Given the description of an element on the screen output the (x, y) to click on. 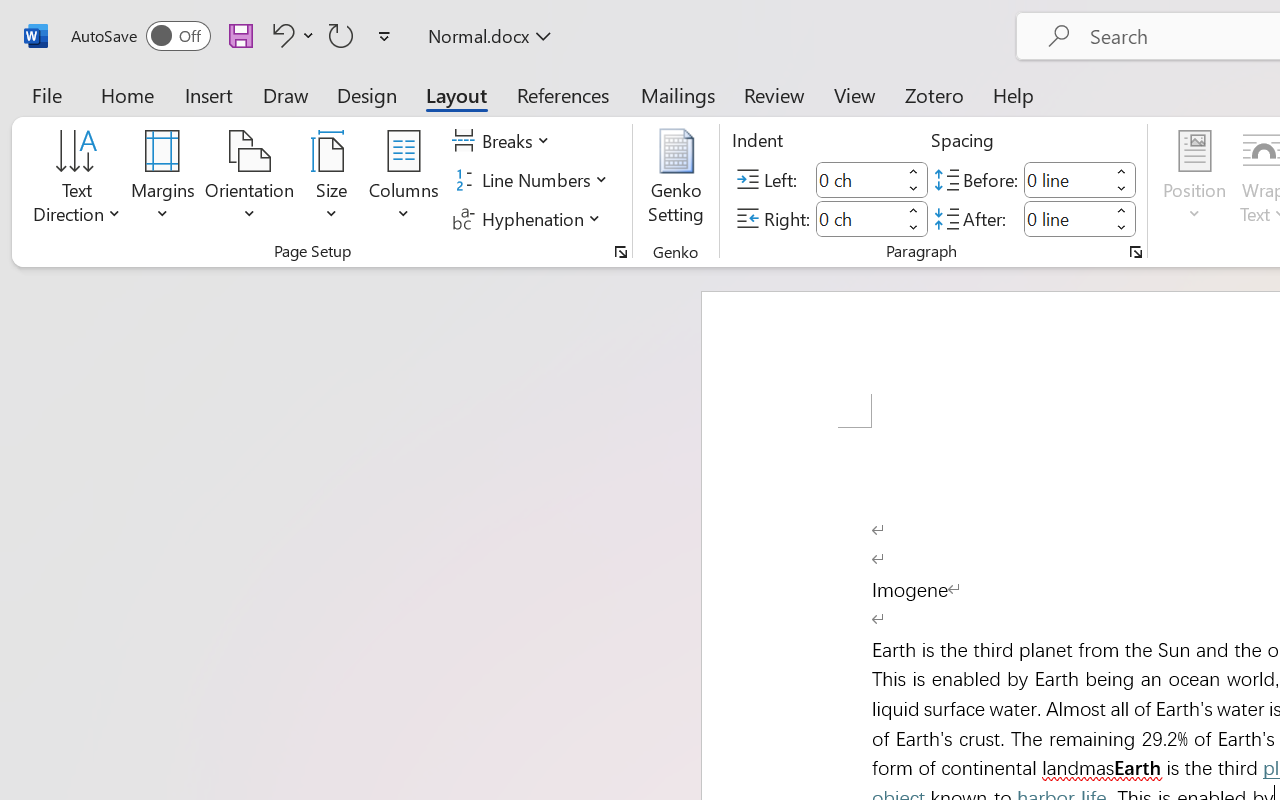
Hyphenation (529, 218)
Indent Right (858, 218)
Breaks (504, 141)
Spacing After (1066, 218)
Genko Setting... (676, 179)
Repeat Doc Close (341, 35)
Line Numbers (532, 179)
Margins (163, 179)
Paragraph... (1135, 252)
